Given the description of an element on the screen output the (x, y) to click on. 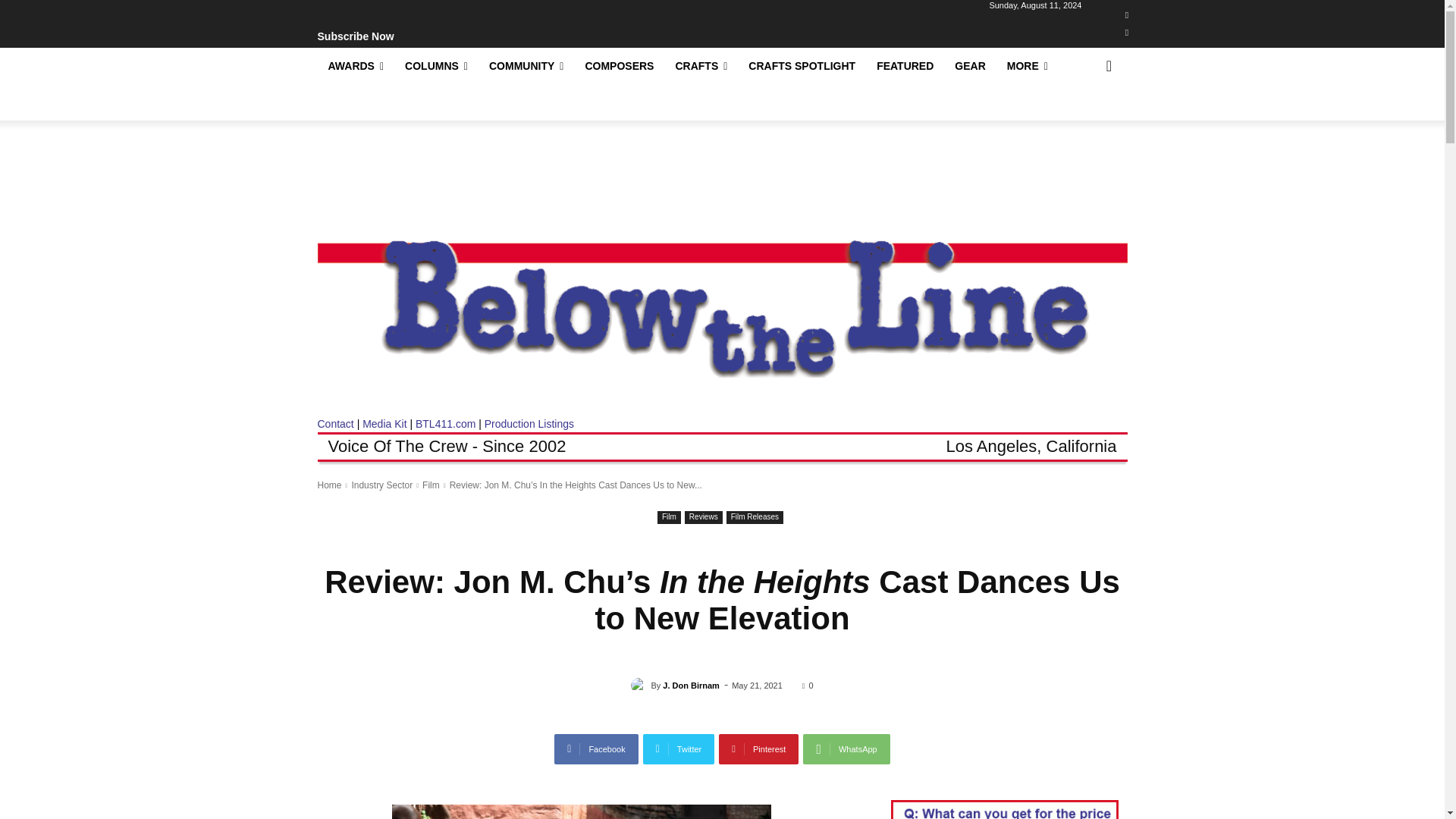
Pinterest (758, 748)
Twitter (678, 748)
View all posts in Film (430, 484)
Facebook (1126, 15)
WhatsApp (846, 748)
View all posts in Industry Sector (381, 484)
Facebook (595, 748)
J. Don Birnam (640, 685)
Twitter (1126, 32)
